Given the description of an element on the screen output the (x, y) to click on. 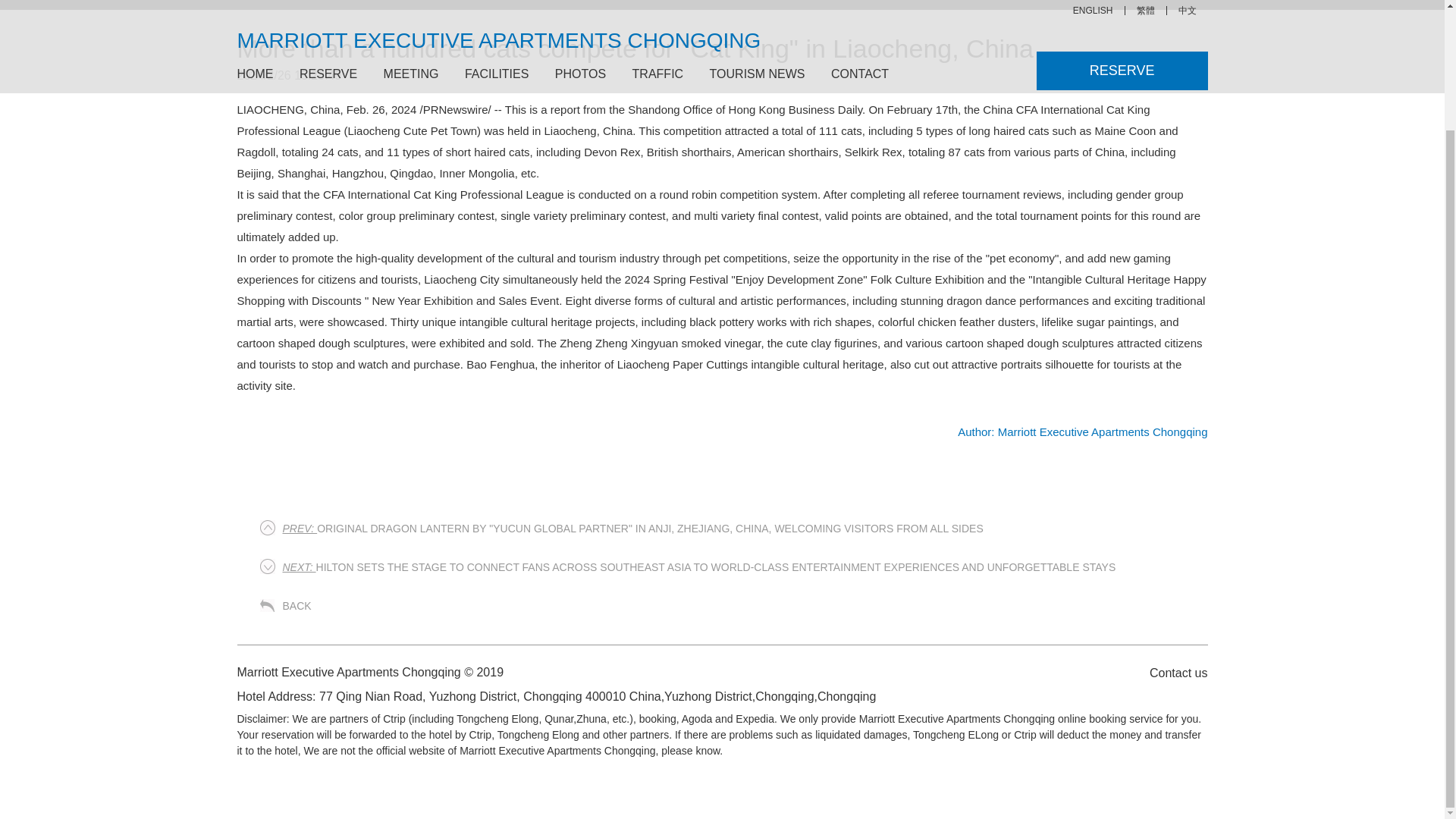
Author: Marriott Executive Apartments Chongqing (1082, 431)
Original Dragon Lantern by  (632, 528)
Contact us (1170, 671)
BACK (296, 605)
Marriott Executive Apartments Chongqing (1082, 431)
